Given the description of an element on the screen output the (x, y) to click on. 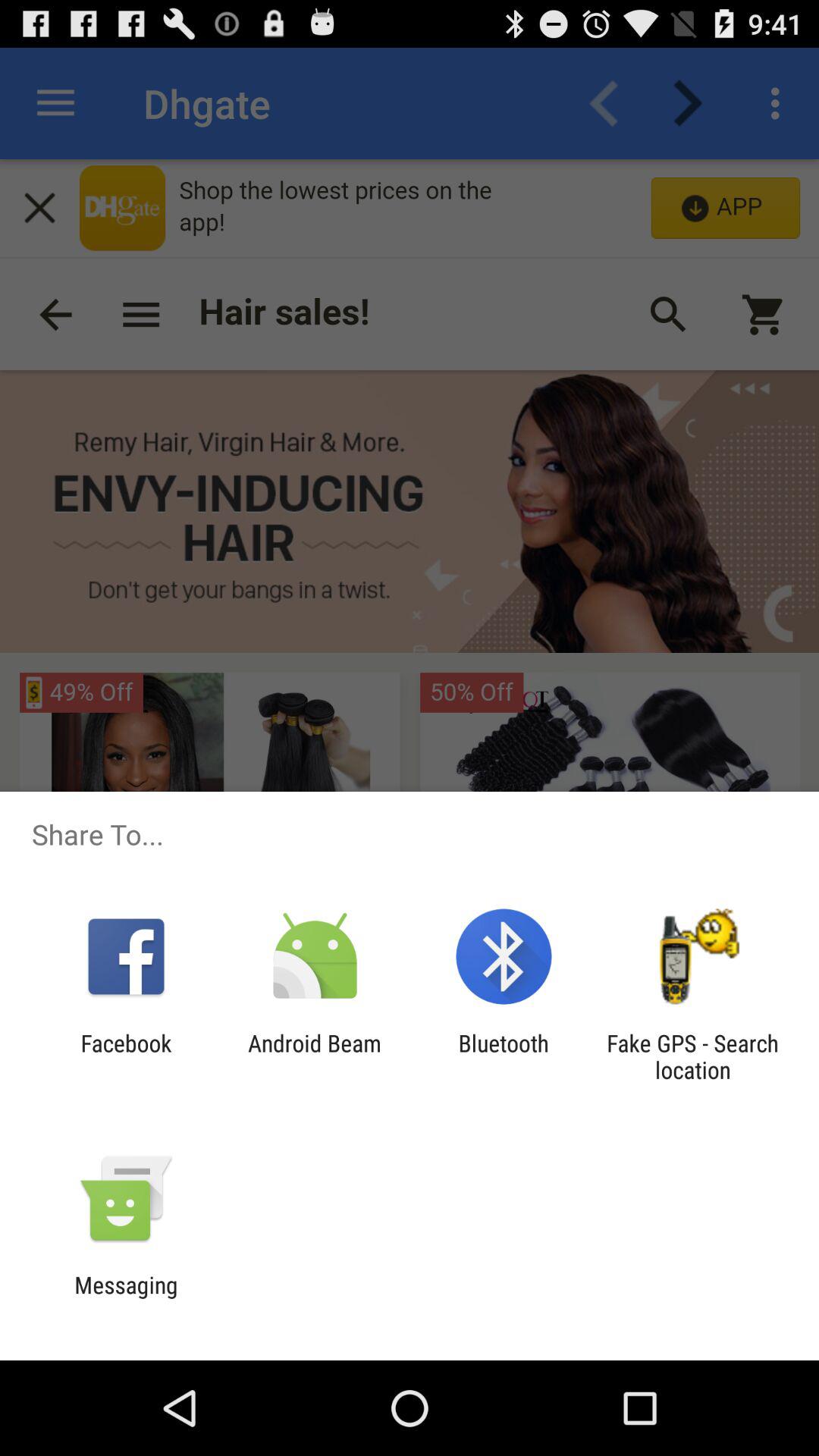
choose app at the bottom right corner (692, 1056)
